Given the description of an element on the screen output the (x, y) to click on. 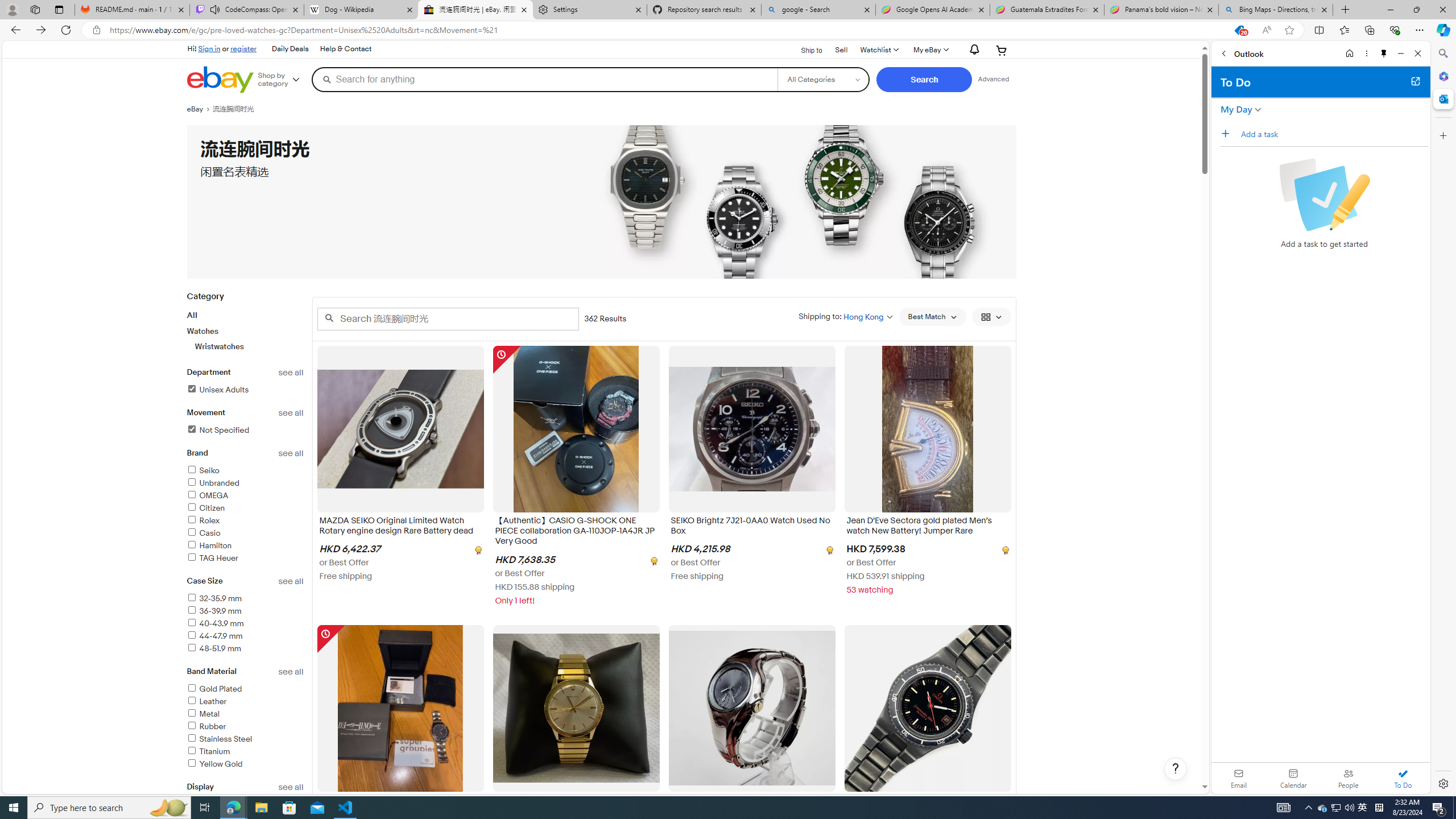
Help & Contact (345, 49)
Movementsee allNot SpecifiedFilter Applied (245, 427)
Unisex Adults Filter Applied (217, 389)
Rubber (245, 726)
Seiko (202, 470)
Enter your search keyword (448, 318)
Add a task (1228, 133)
My eBayExpand My eBay (930, 49)
To Do (1402, 777)
Titanium (208, 751)
WatchlistExpand Watch List (878, 49)
Hamilton (245, 546)
